Given the description of an element on the screen output the (x, y) to click on. 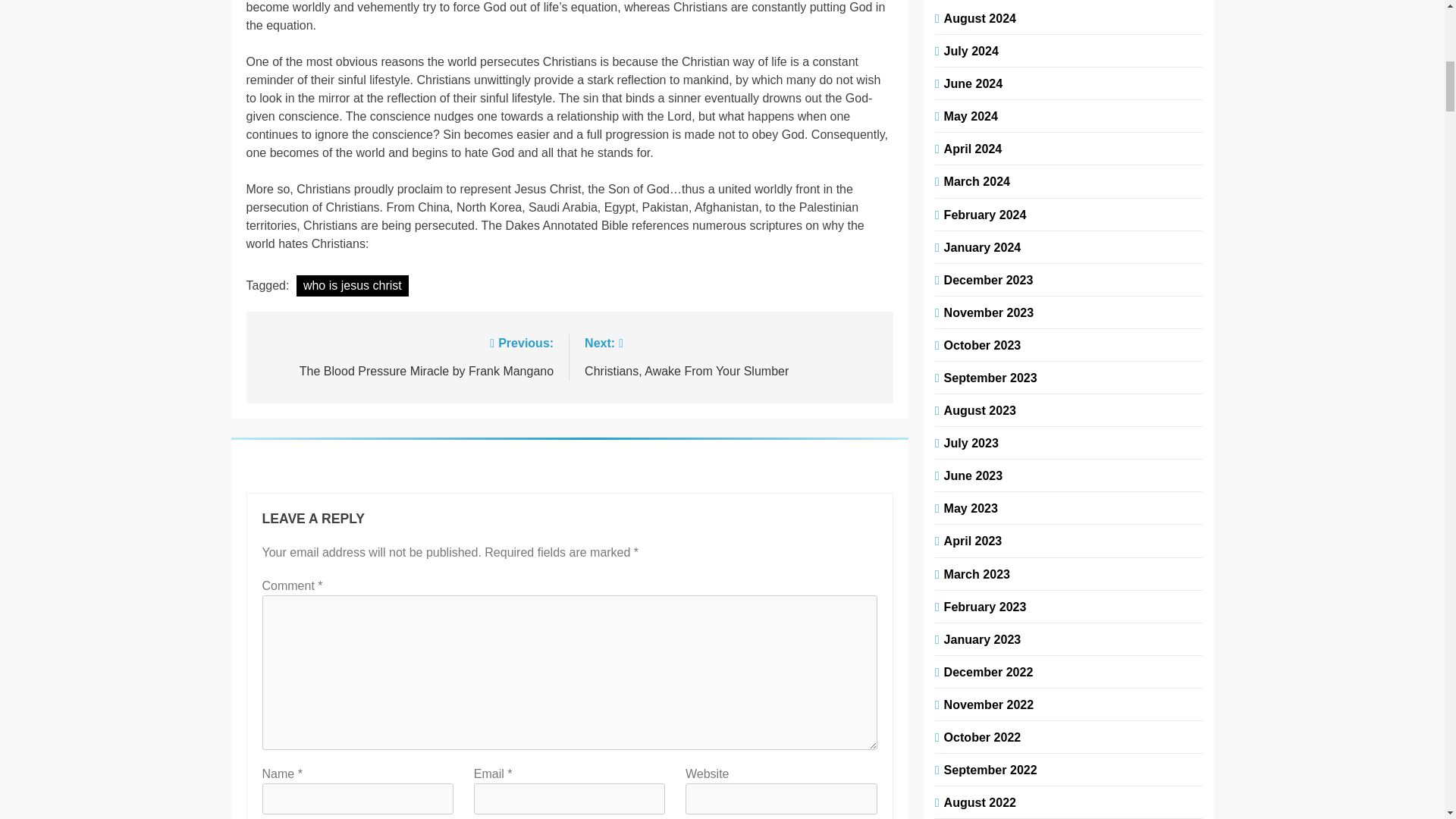
who is jesus christ (353, 285)
